Given the description of an element on the screen output the (x, y) to click on. 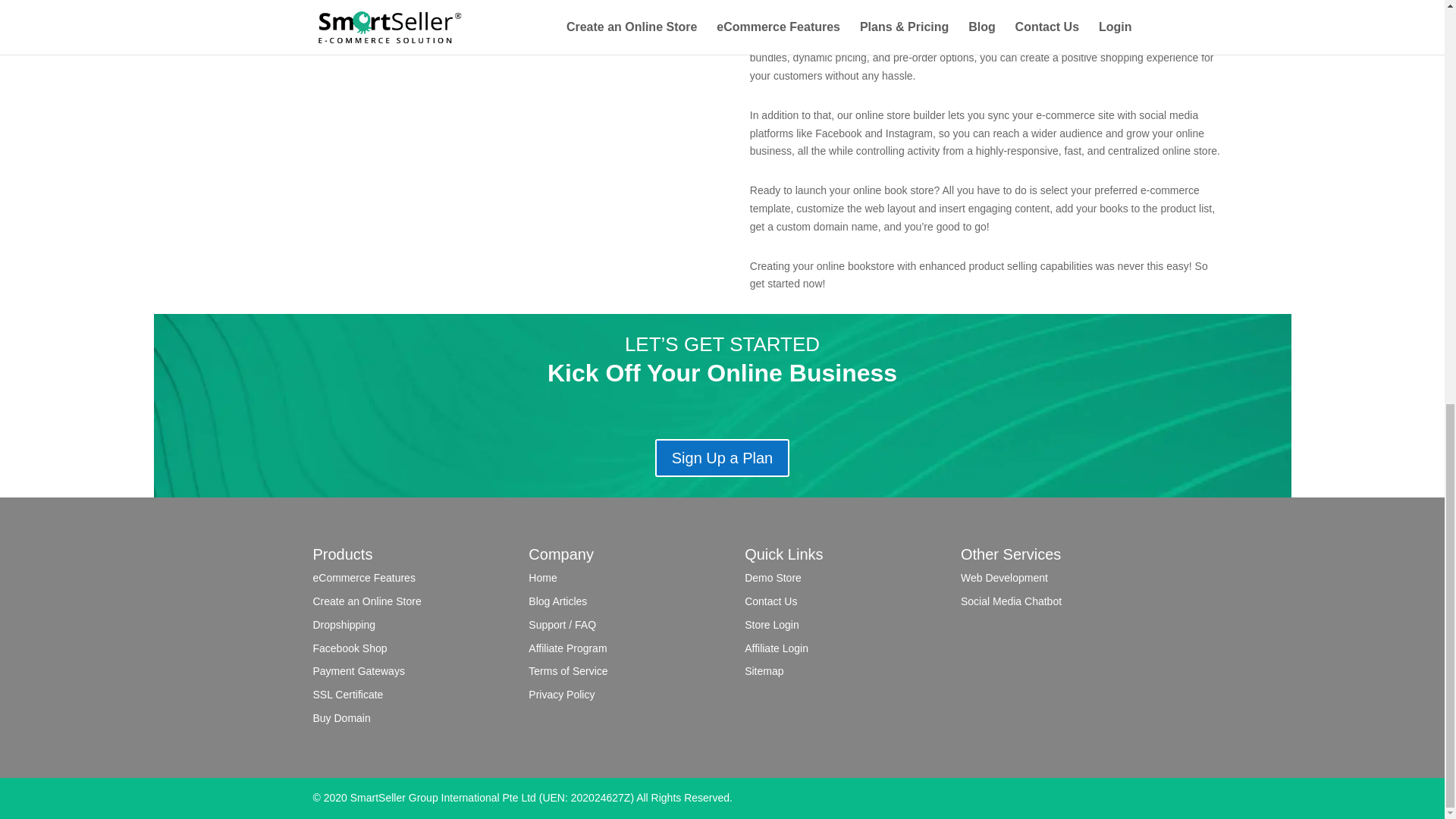
Create an Online Store (366, 601)
Privacy Policy (561, 694)
Social Media Chatbot (1010, 601)
Affiliate Program (567, 648)
Dropshipping (344, 624)
Store Login (771, 624)
Web Development (1004, 577)
Affiliate Login (776, 648)
Facebook Shop (350, 648)
eCommerce Features (363, 577)
Home (542, 577)
Contact Us (770, 601)
Payment Gateways (358, 671)
Demo Store (773, 577)
Buy Domain (341, 717)
